Given the description of an element on the screen output the (x, y) to click on. 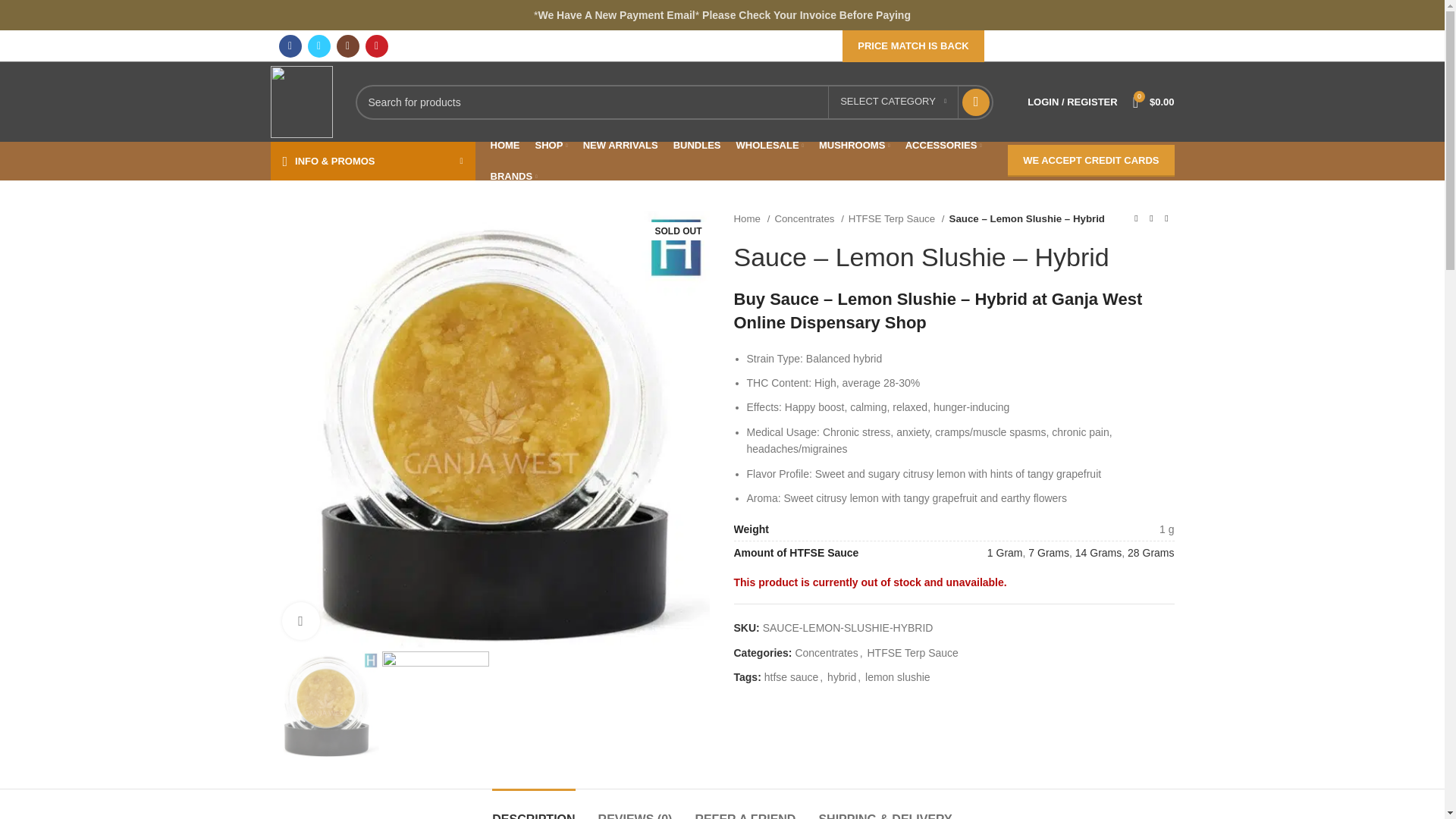
CONTACT (1068, 45)
SELECT CATEGORY (893, 101)
My account (1072, 101)
SELECT CATEGORY (893, 101)
Shopping cart (1153, 101)
ABOUT (1015, 45)
Search for products (673, 102)
PRICE MATCH IS BACK (913, 46)
